Given the description of an element on the screen output the (x, y) to click on. 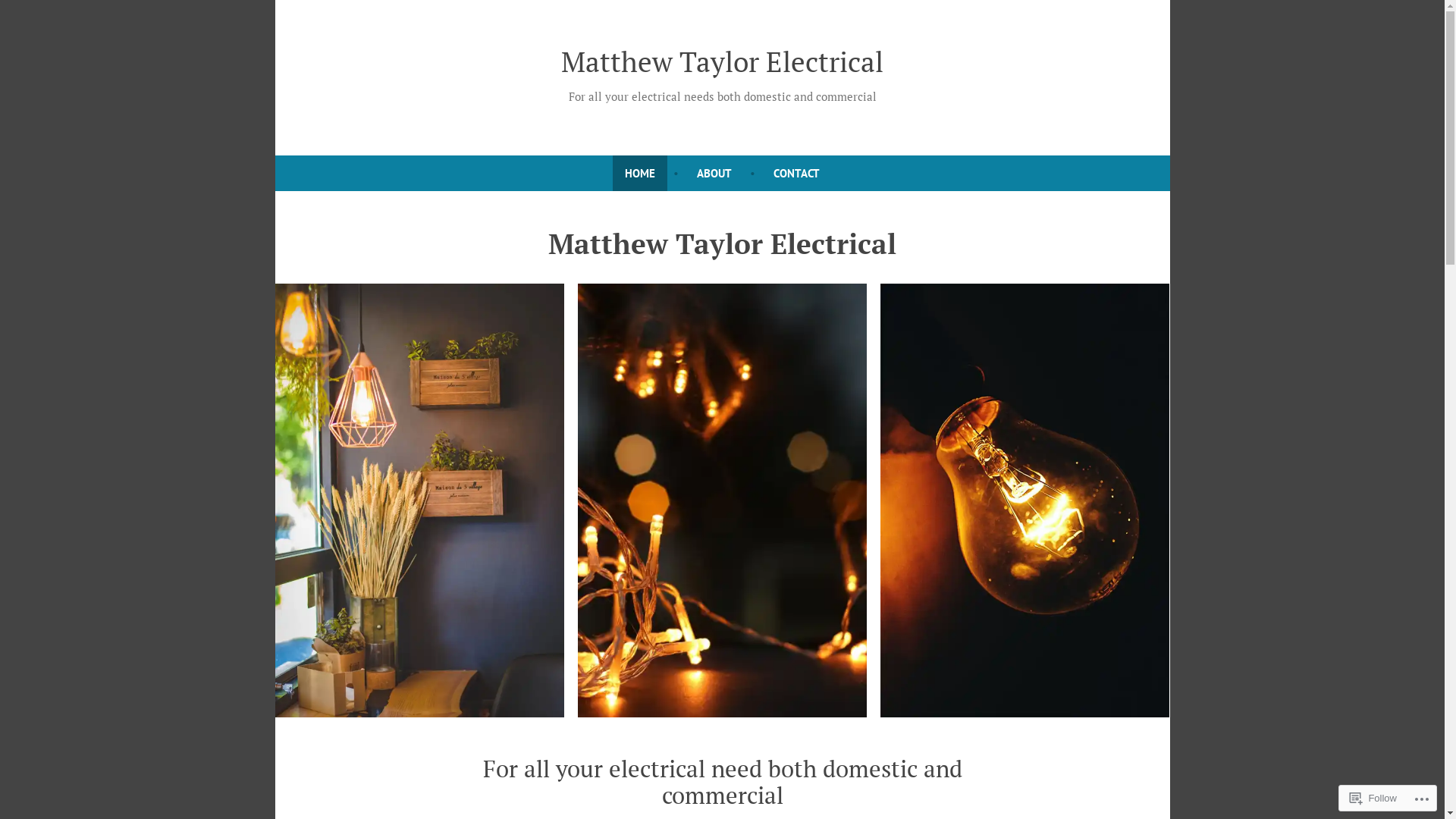
HOME Element type: text (639, 173)
Follow Element type: text (1372, 797)
CONTACT Element type: text (796, 173)
ABOUT Element type: text (713, 173)
Matthew Taylor Electrical Element type: text (722, 61)
